Given the description of an element on the screen output the (x, y) to click on. 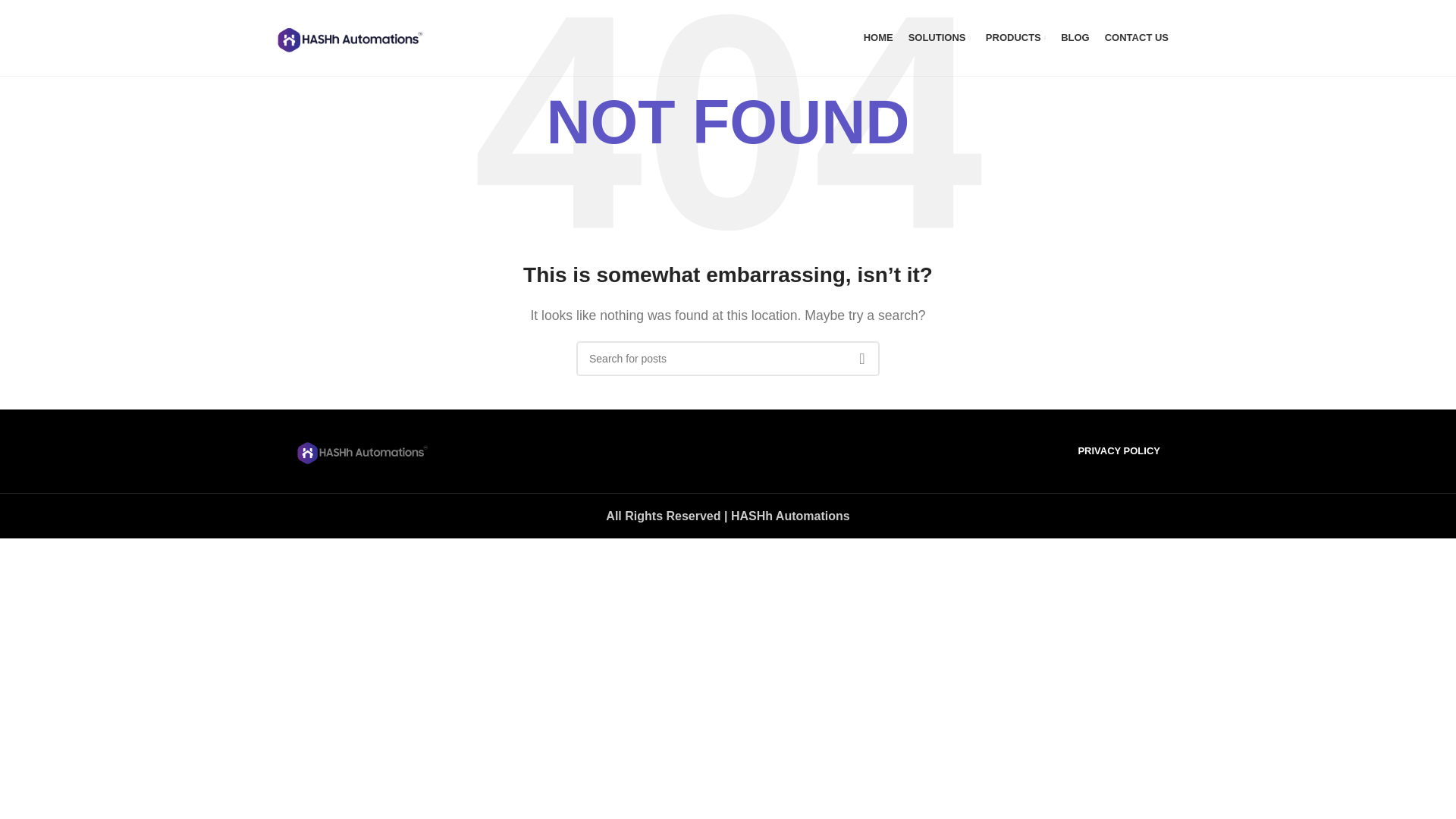
SEARCH (861, 358)
CONTACT US (1137, 37)
PRODUCTS (1015, 37)
BLOG (1075, 37)
HOME (878, 37)
PRIVACY POLICY (1118, 450)
Search for posts (727, 358)
SOLUTIONS (939, 37)
